Given the description of an element on the screen output the (x, y) to click on. 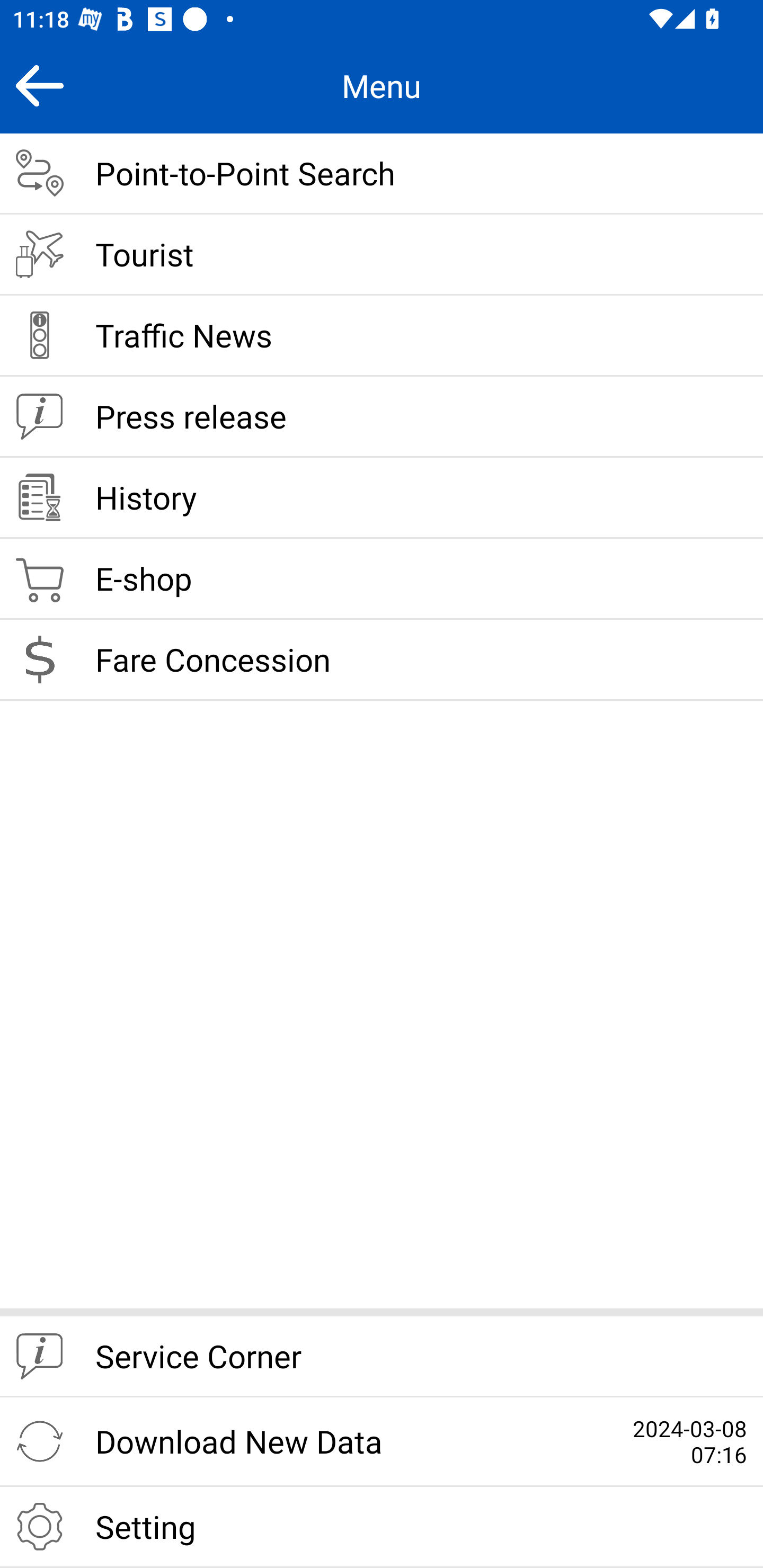
Back (39, 85)
Point-to-Point Search (381, 173)
Tourist (381, 255)
Traffic News (381, 336)
Press release (381, 416)
History (381, 498)
E-shop (381, 579)
Fare Concession (381, 659)
Service Corner (381, 1357)
Download New Data 2024-03-08
07:16 (381, 1441)
Setting (381, 1527)
